Given the description of an element on the screen output the (x, y) to click on. 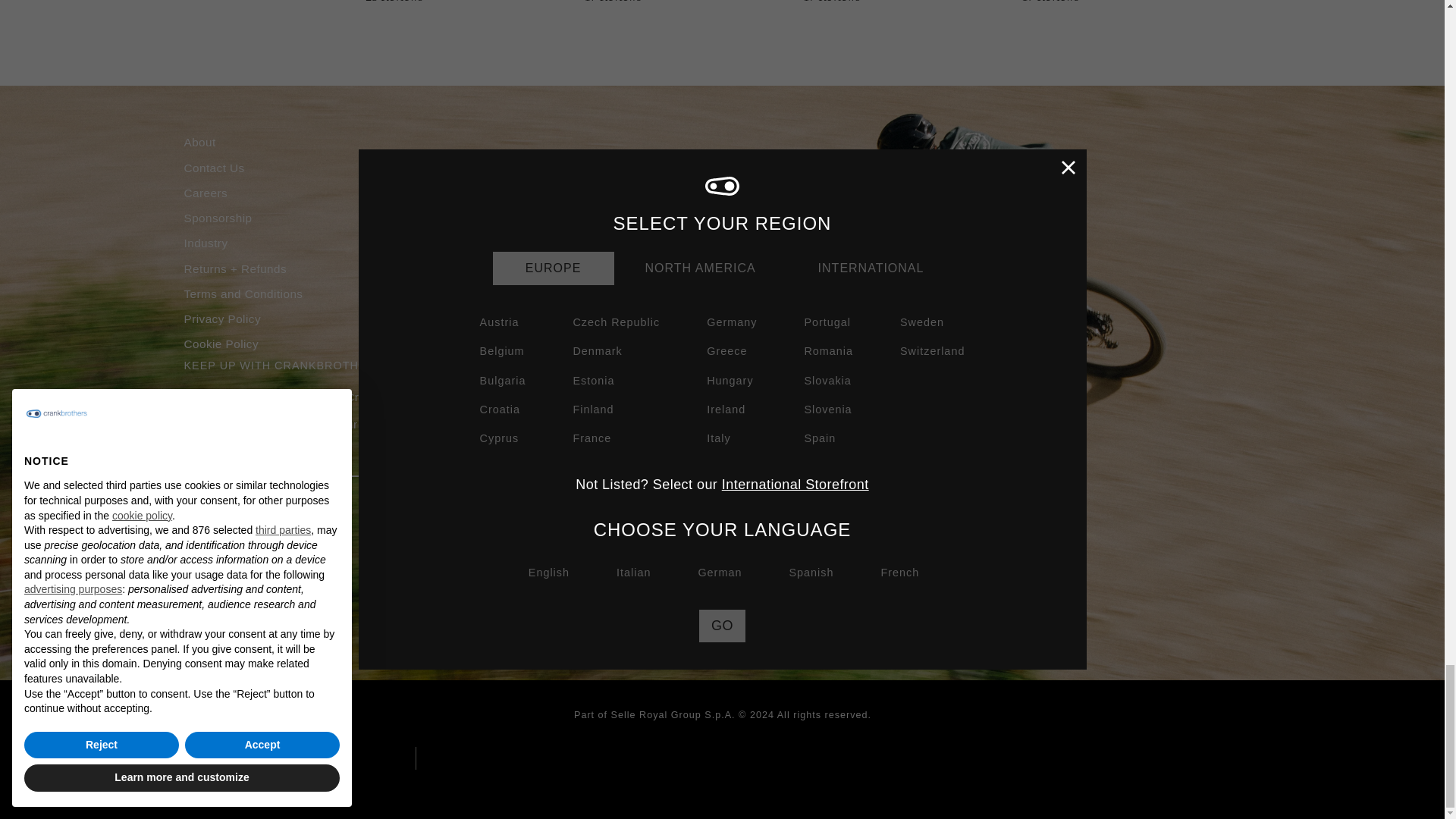
17 Reviews (1050, 2)
Crankbrothers EU on WhatsApp (310, 510)
17 Reviews (612, 2)
Crankbrothers EU on TikTok (282, 515)
25 Reviews (393, 2)
Crankbrothers EU on Facebook (222, 515)
Privacy Policy (645, 424)
17 Reviews (830, 2)
Crankbrothers EU on YouTube (251, 515)
Crankbrothers EU on Instagram (192, 515)
Terms and Conditions (734, 424)
